Given the description of an element on the screen output the (x, y) to click on. 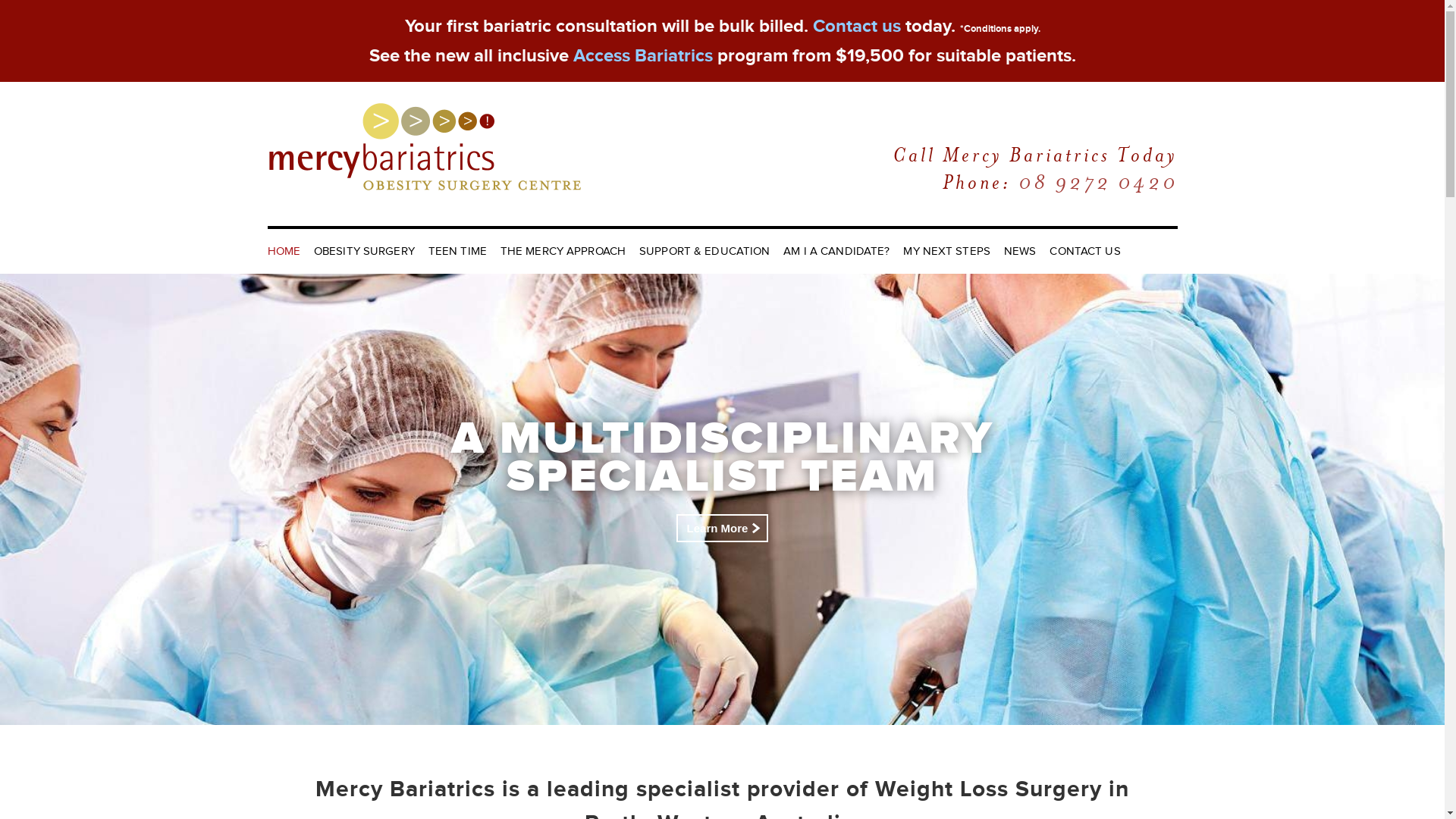
Mercy Bariatrics Perth Element type: hover (423, 114)
NEWS Element type: text (1019, 251)
MY NEXT STEPS Element type: text (946, 251)
CONTACT US Element type: text (1082, 251)
SUPPORT & EDUCATION Element type: text (704, 251)
Access Bariatrics Element type: text (642, 55)
Mercy Bariatrics Perth Element type: hover (423, 145)
HOME Element type: text (285, 251)
AM I A CANDIDATE? Element type: text (836, 251)
Learn More Element type: text (722, 528)
OBESITY SURGERY Element type: text (364, 251)
THE MERCY APPROACH Element type: text (562, 251)
Contact us Element type: text (856, 26)
08 9272 0420 Element type: text (1096, 181)
TEEN TIME Element type: text (457, 251)
